Given the description of an element on the screen output the (x, y) to click on. 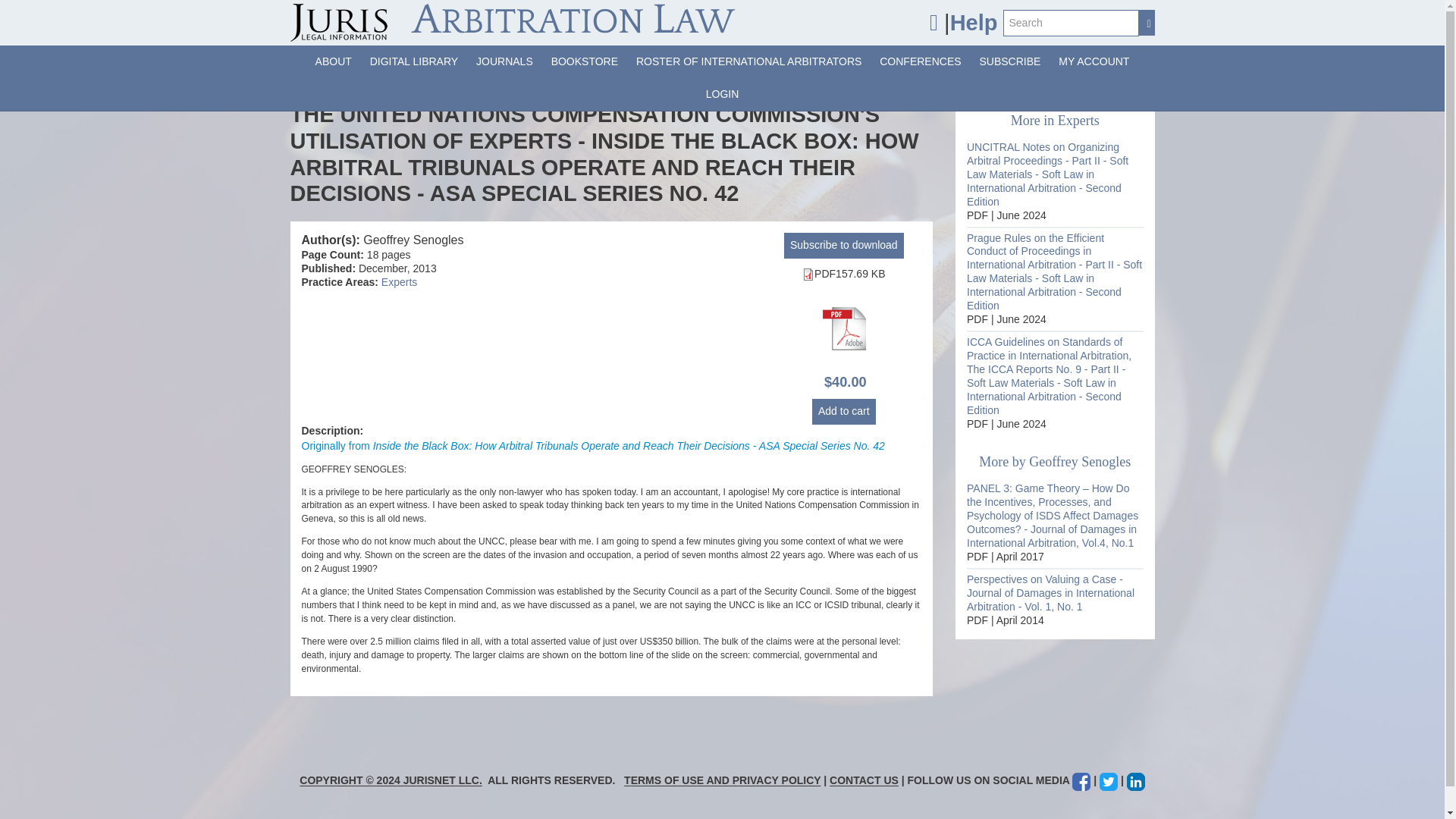
ABOUT (333, 61)
MY ACCOUNT (1094, 61)
Add to cart (844, 411)
Enter the terms you wish to search for. (1070, 22)
LOGIN (722, 93)
Subscribe to download (844, 245)
Help (973, 22)
DIGITAL LIBRARY (413, 61)
Experts (398, 282)
BOOKSTORE (584, 61)
